Given the description of an element on the screen output the (x, y) to click on. 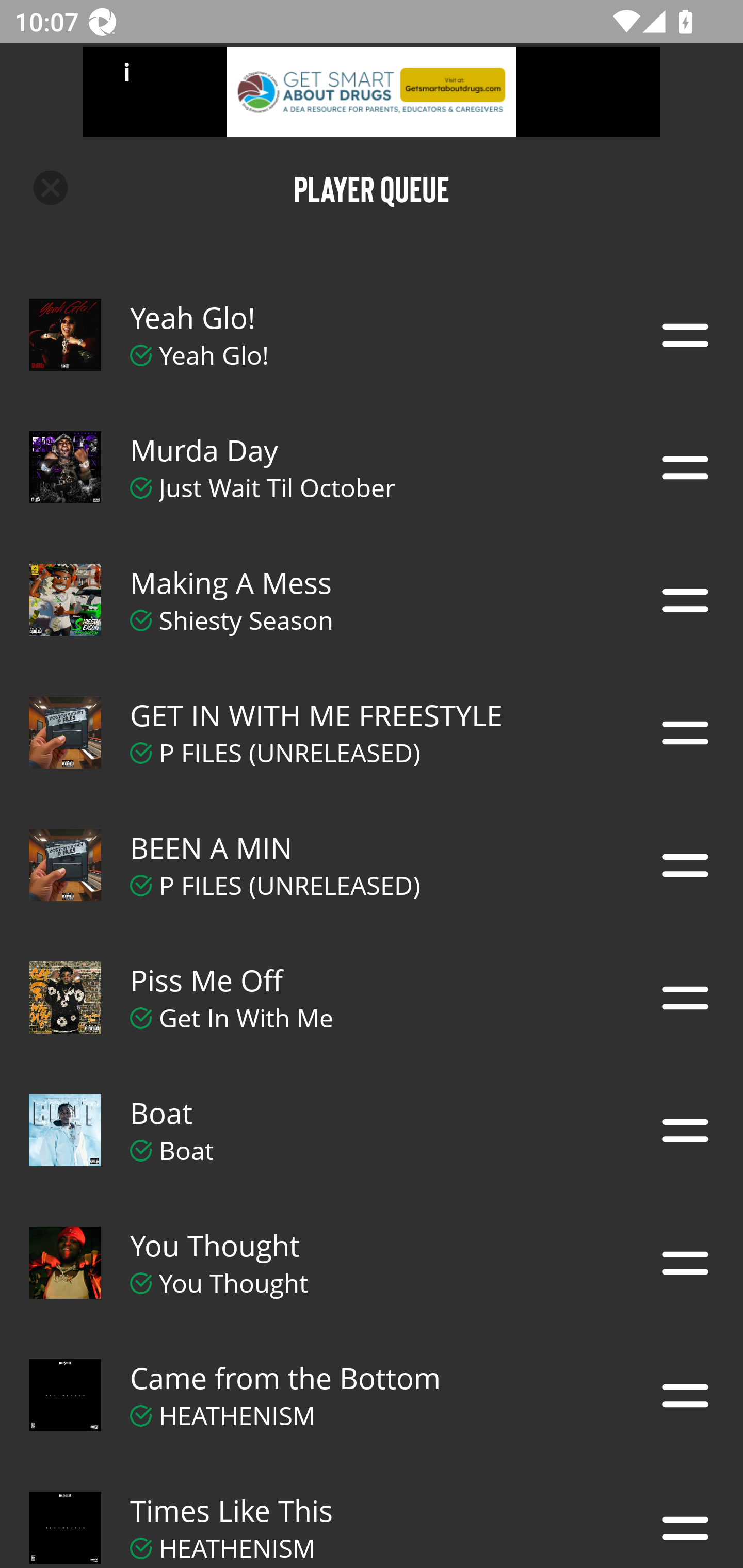
Navigate up (50, 187)
Description Boat Description Boat Description (371, 1130)
